Given the description of an element on the screen output the (x, y) to click on. 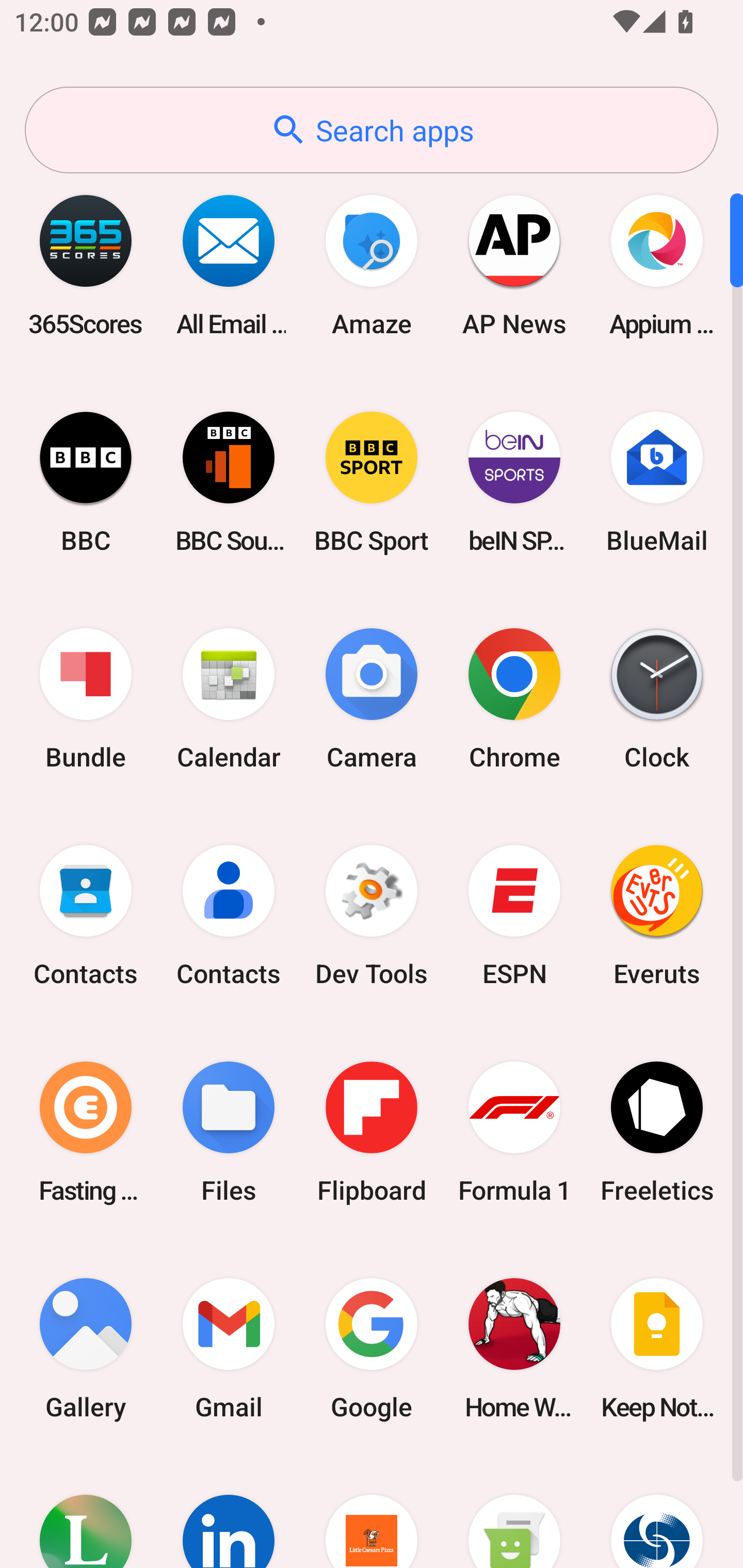
  Search apps (371, 130)
365Scores (85, 264)
All Email Connect (228, 264)
Amaze (371, 264)
AP News (514, 264)
Appium Settings (656, 264)
BBC (85, 482)
BBC Sounds (228, 482)
BBC Sport (371, 482)
beIN SPORTS (514, 482)
BlueMail (656, 482)
Bundle (85, 699)
Calendar (228, 699)
Camera (371, 699)
Chrome (514, 699)
Clock (656, 699)
Contacts (85, 915)
Contacts (228, 915)
Dev Tools (371, 915)
ESPN (514, 915)
Everuts (656, 915)
Fasting Coach (85, 1131)
Files (228, 1131)
Flipboard (371, 1131)
Formula 1 (514, 1131)
Freeletics (656, 1131)
Gallery (85, 1348)
Gmail (228, 1348)
Google (371, 1348)
Home Workout (514, 1348)
Keep Notes (656, 1348)
Lifesum (85, 1512)
LinkedIn (228, 1512)
Little Caesars Pizza (371, 1512)
Messaging (514, 1512)
MyObservatory (656, 1512)
